Given the description of an element on the screen output the (x, y) to click on. 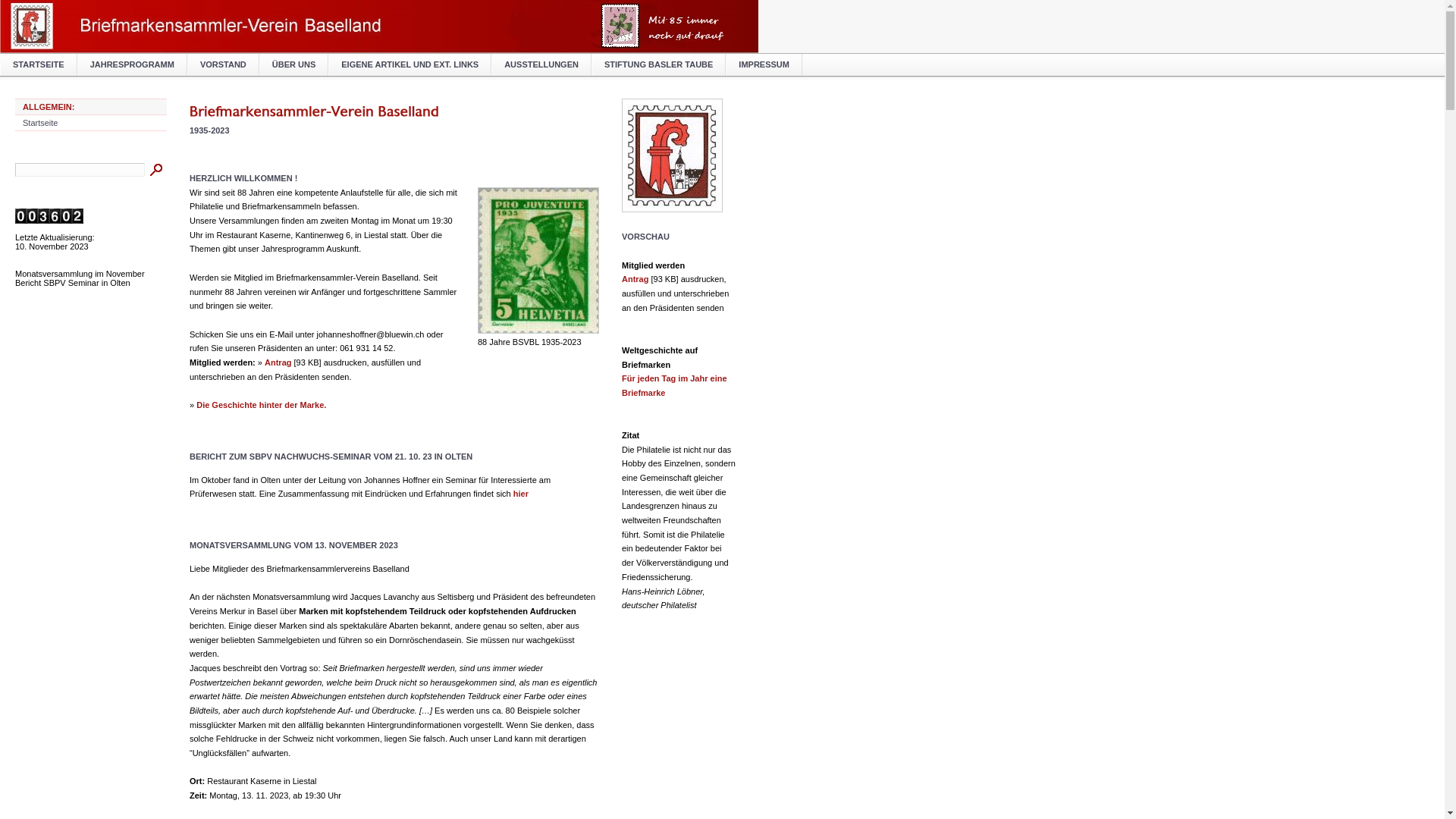
JAHRESPROGRAMM Element type: text (132, 64)
Antrag Element type: text (634, 278)
AUSSTELLUNGEN Element type: text (541, 64)
Die Geschichte hinter der Marke. Element type: text (261, 404)
STARTSEITE Element type: text (38, 64)
VORSTAND Element type: text (223, 64)
STIFTUNG BASLER TAUBE Element type: text (658, 64)
EIGENE ARTIKEL UND EXT. LINKS Element type: text (409, 64)
IMPRESSUM Element type: text (763, 64)
hier Element type: text (520, 493)
Antrag Element type: text (277, 362)
Startseite Element type: text (39, 122)
